Given the description of an element on the screen output the (x, y) to click on. 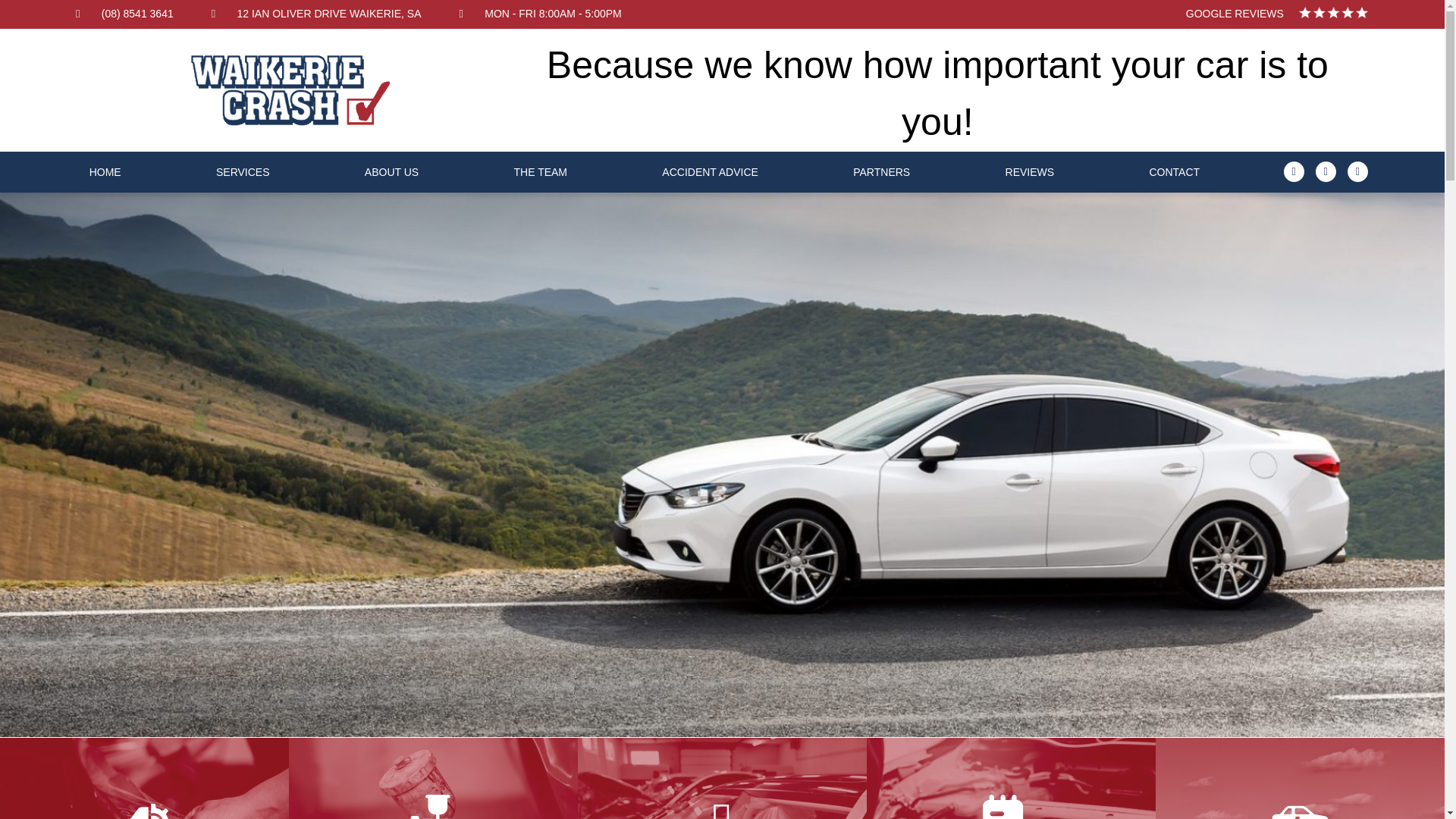
THE TEAM (540, 171)
12 IAN OLIVER DRIVE WAIKERIE, SA (316, 13)
ABOUT US (391, 171)
HOME (104, 171)
PARTNERS (881, 171)
SERVICES (242, 171)
CONTACT (1173, 171)
REVIEWS (1029, 171)
ACCIDENT ADVICE (710, 171)
